Given the description of an element on the screen output the (x, y) to click on. 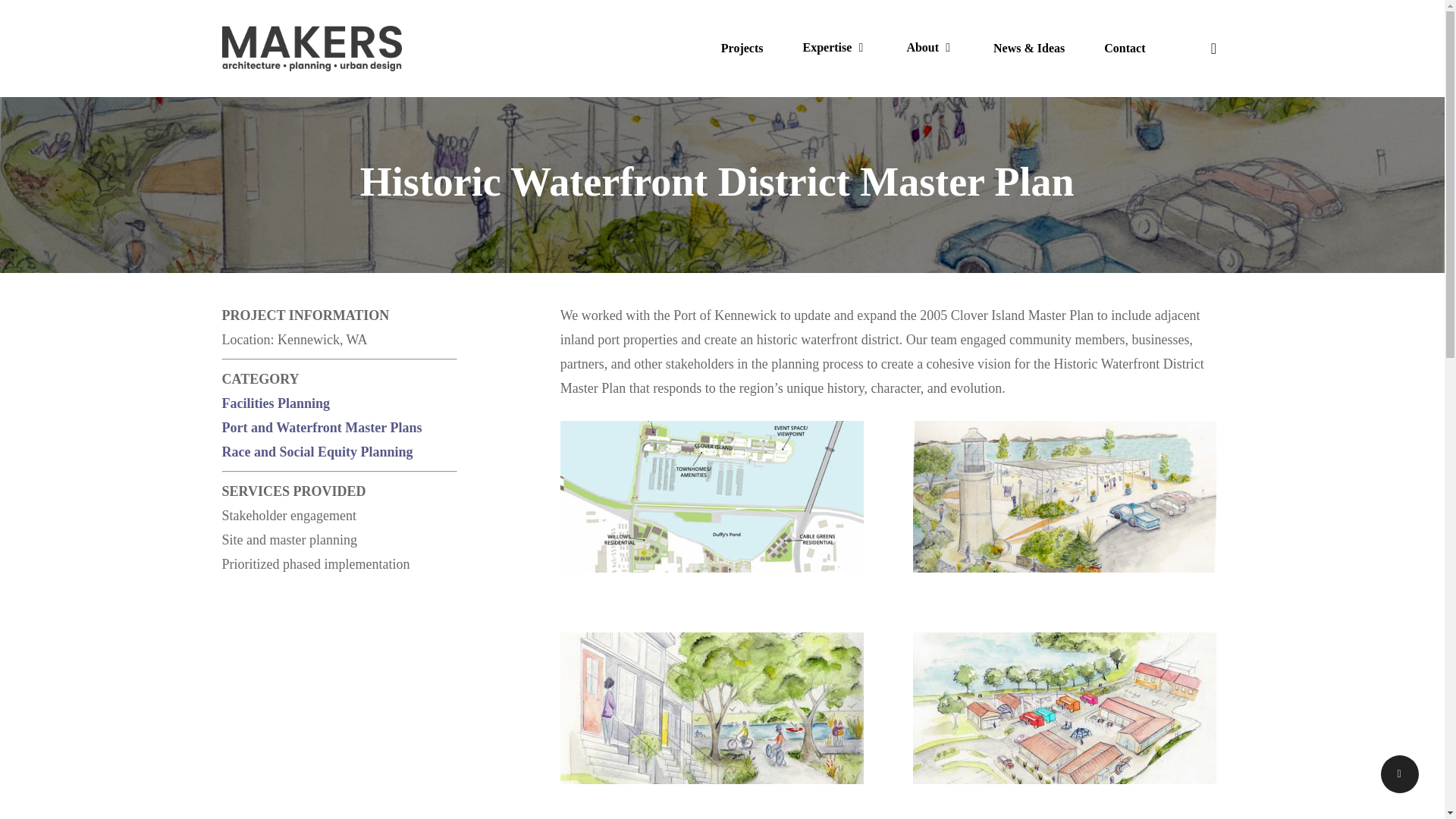
About (930, 47)
Projects (742, 48)
project-02 (1063, 707)
Port and Waterfront Master Plans (321, 427)
Expertise (834, 47)
Contact (1124, 48)
Facilities Planning (275, 403)
search (1213, 48)
Site Plan (711, 496)
project-01 (711, 707)
Race and Social Equity Planning (316, 451)
